Given the description of an element on the screen output the (x, y) to click on. 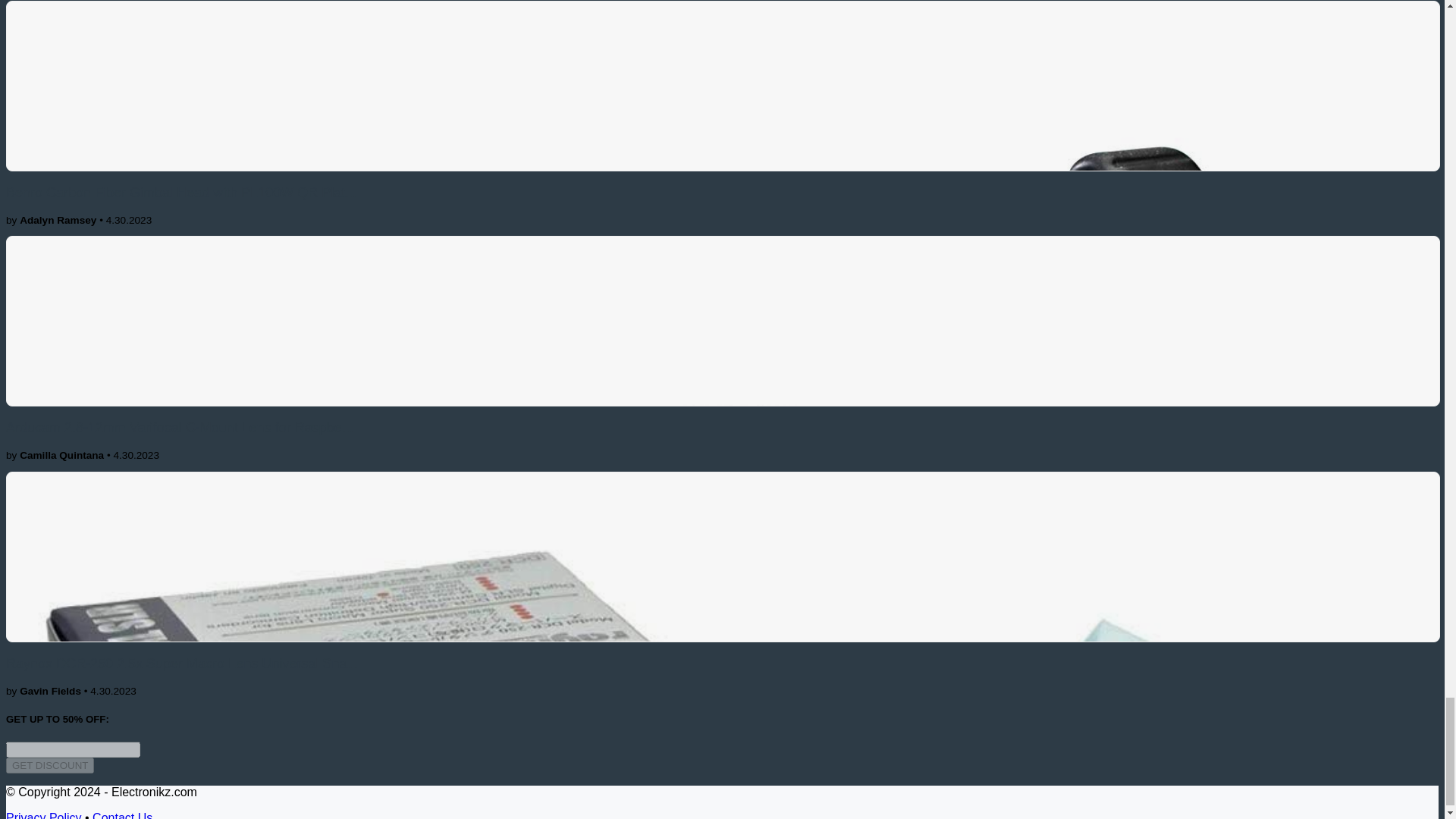
GET DISCOUNT (49, 765)
